Given the description of an element on the screen output the (x, y) to click on. 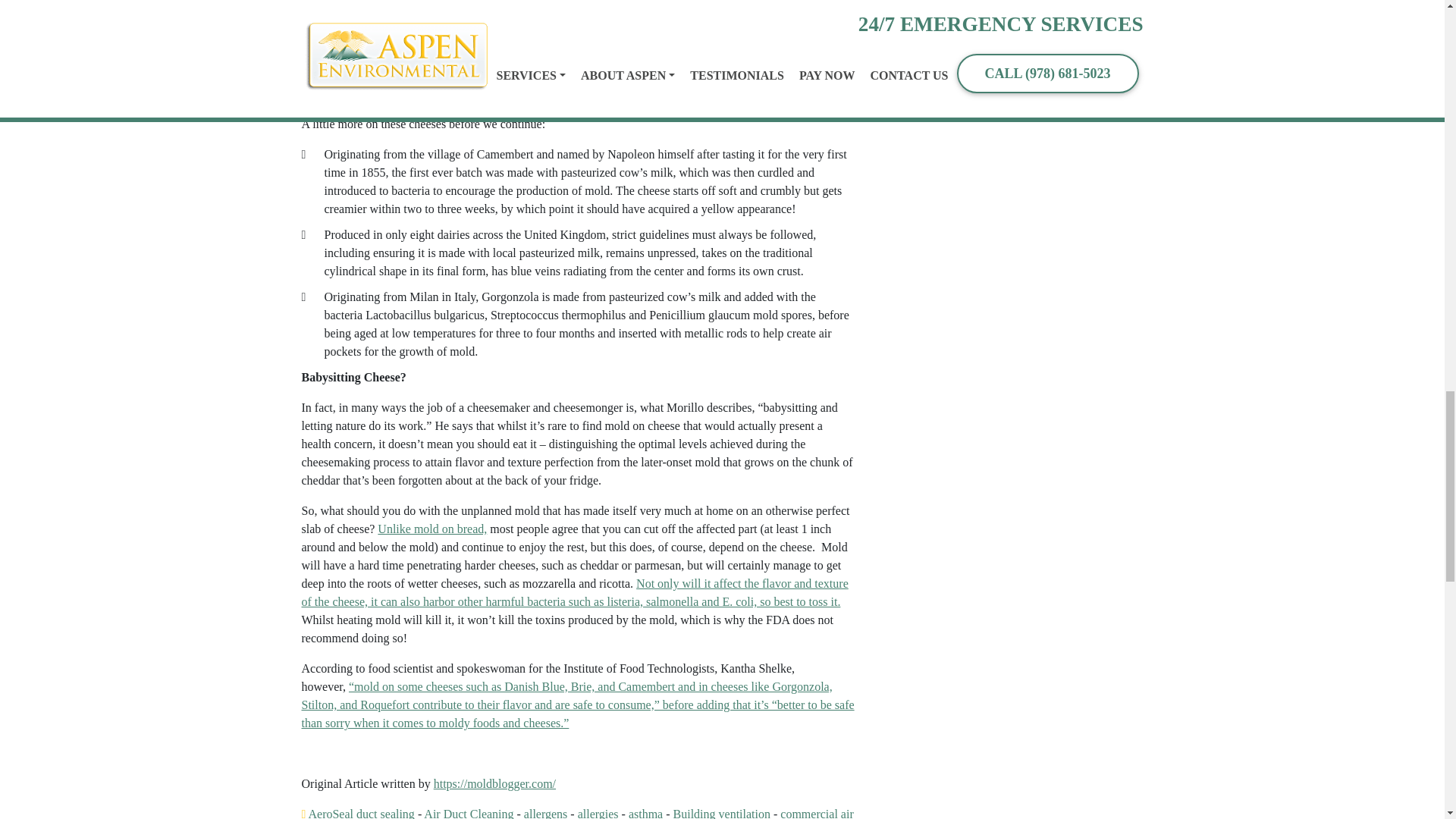
allergies (598, 813)
commercial air duct cleaning (577, 813)
asthma (645, 813)
allergens (545, 813)
AeroSeal duct sealing (360, 813)
Air Duct Cleaning (468, 813)
Building ventilation (721, 813)
Unlike mold on bread, (431, 528)
